Given the description of an element on the screen output the (x, y) to click on. 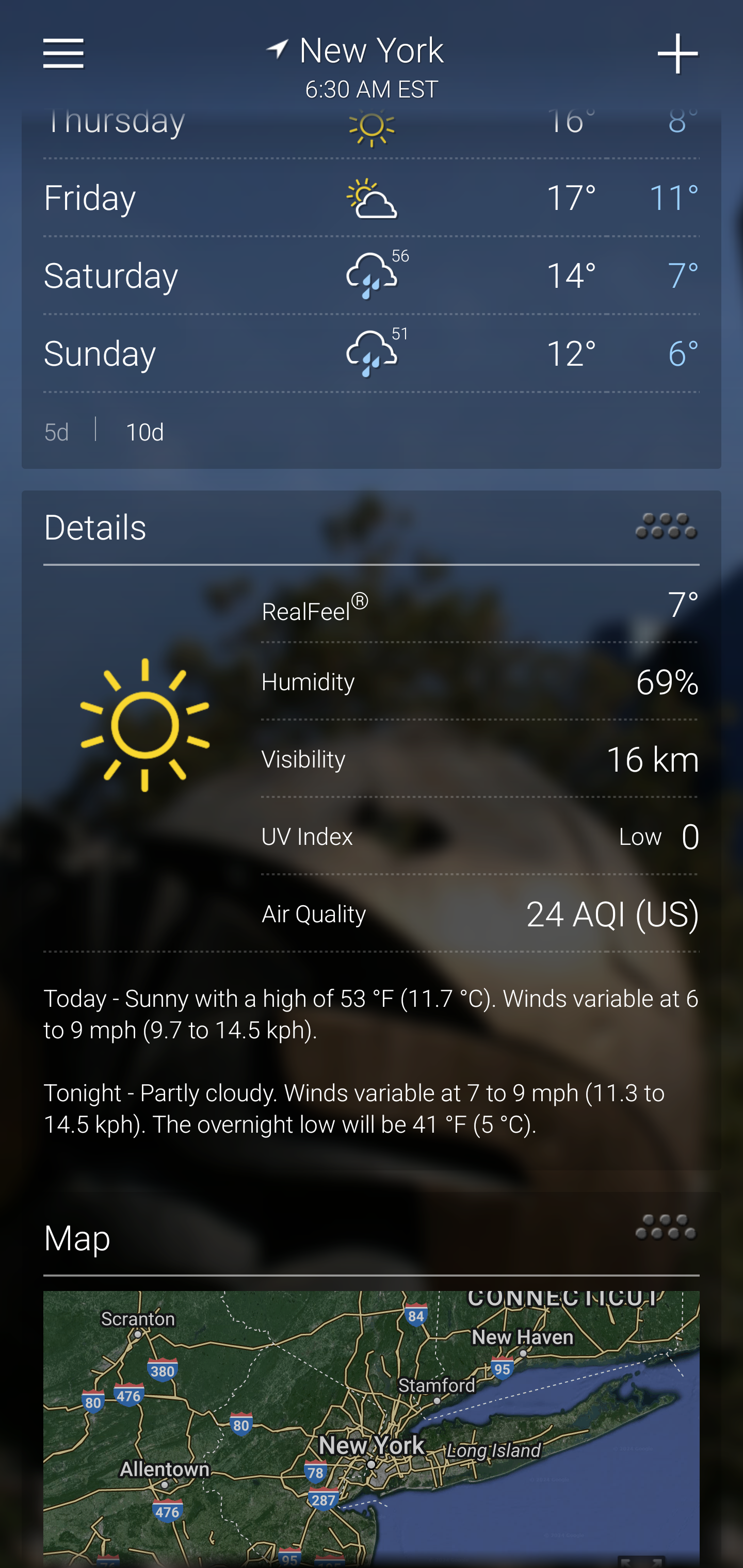
Sidebar (64, 54)
Add City (678, 53)
Forecast Toggle. 10 days (371, 430)
Google Map (371, 1429)
